Given the description of an element on the screen output the (x, y) to click on. 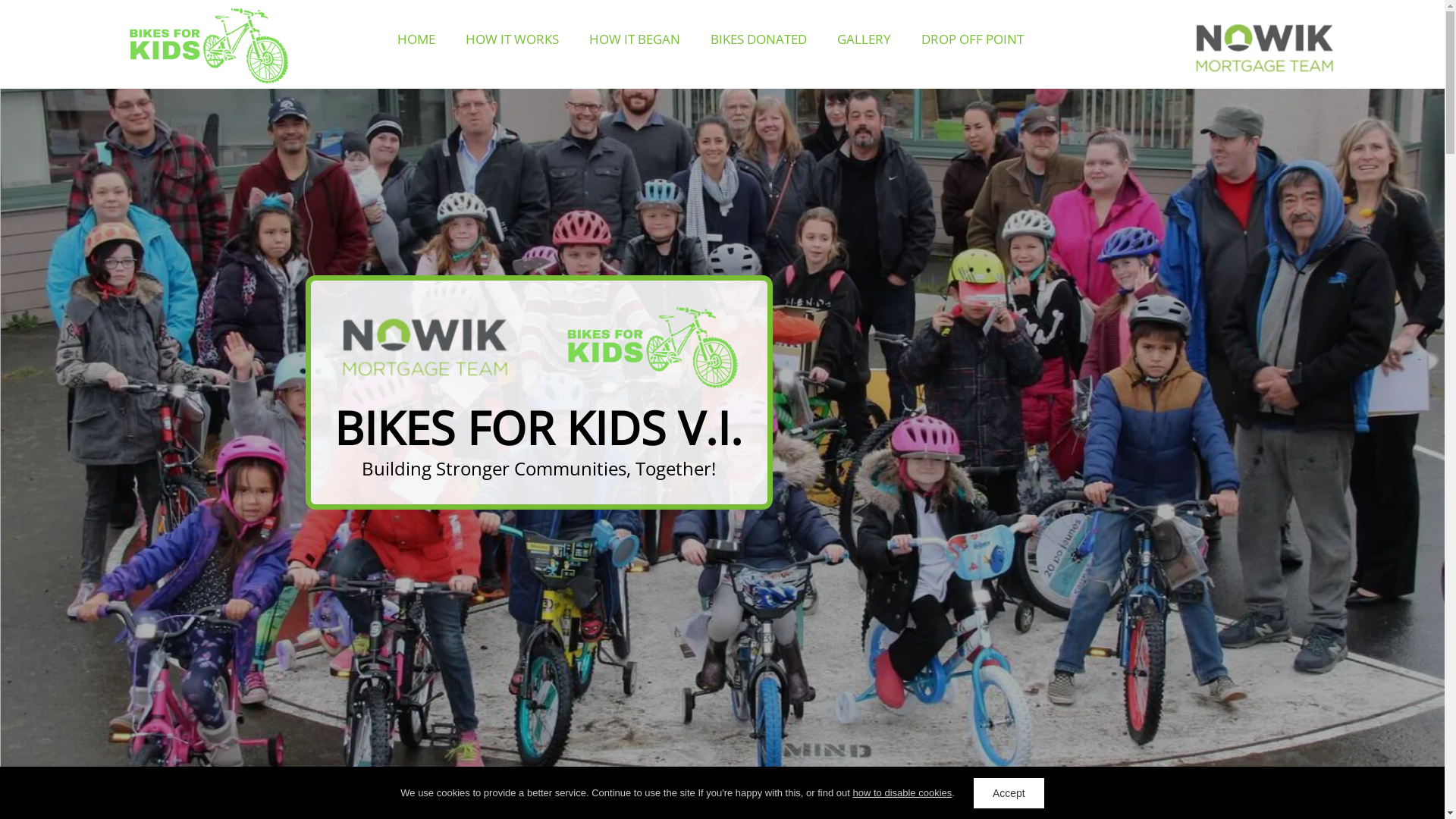
HOW IT BEGAN Element type: text (634, 39)
HOW IT WORKS Element type: text (512, 39)
HOME Element type: text (416, 39)
Accept Element type: text (1008, 793)
GALLERY Element type: text (864, 39)
BIKES DONATED Element type: text (758, 39)
how to disable cookies Element type: text (901, 792)
DROP OFF POINT Element type: text (972, 39)
